Given the description of an element on the screen output the (x, y) to click on. 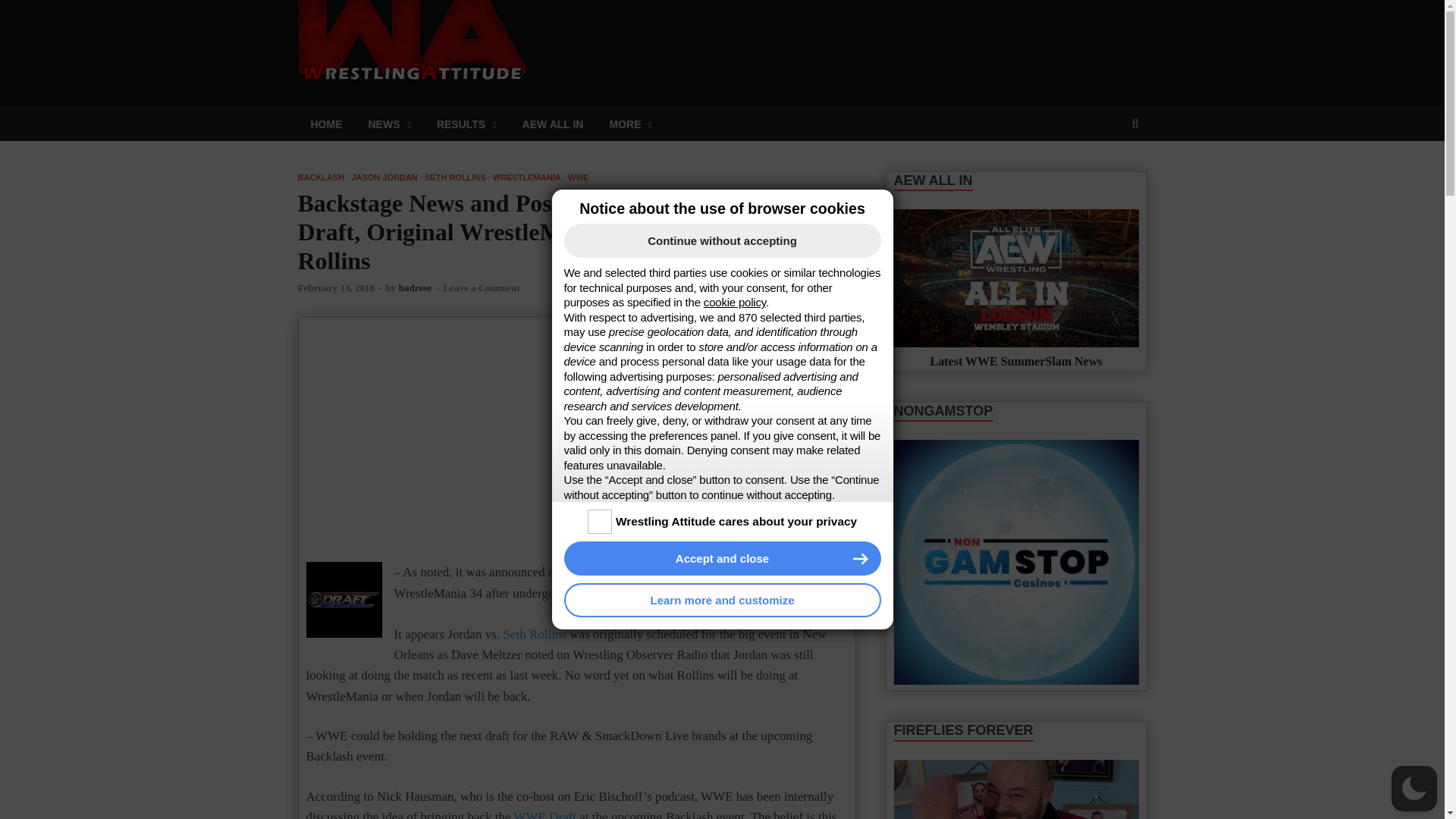
AEW ALL IN (552, 123)
Wrestling Attitude (645, 27)
AEW All In (1015, 278)
RESULTS (466, 123)
HOME (326, 123)
MORE (629, 123)
Non Gamstop Casinos (1015, 561)
NEWS (389, 123)
Seth Rollins (535, 634)
WWE Draft (544, 814)
